Given the description of an element on the screen output the (x, y) to click on. 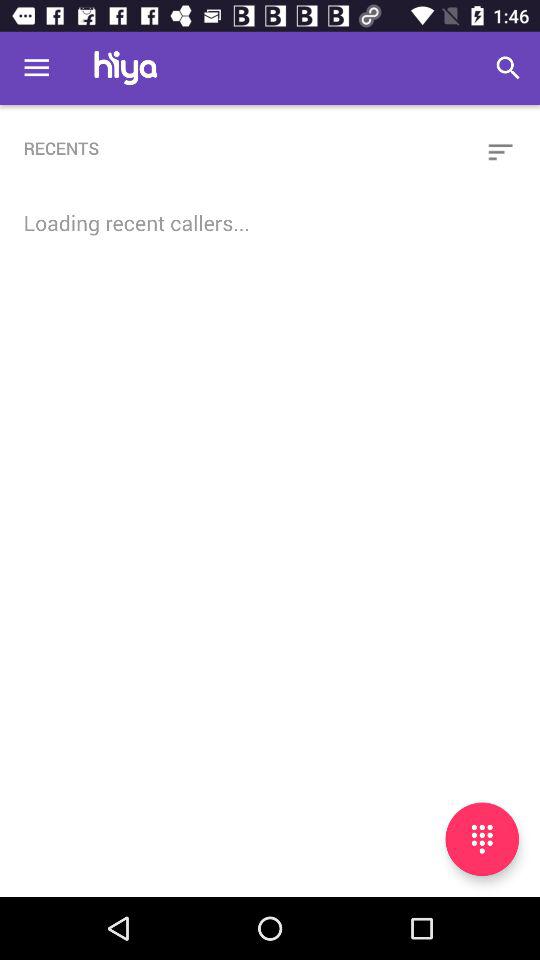
open numberpad (482, 839)
